Given the description of an element on the screen output the (x, y) to click on. 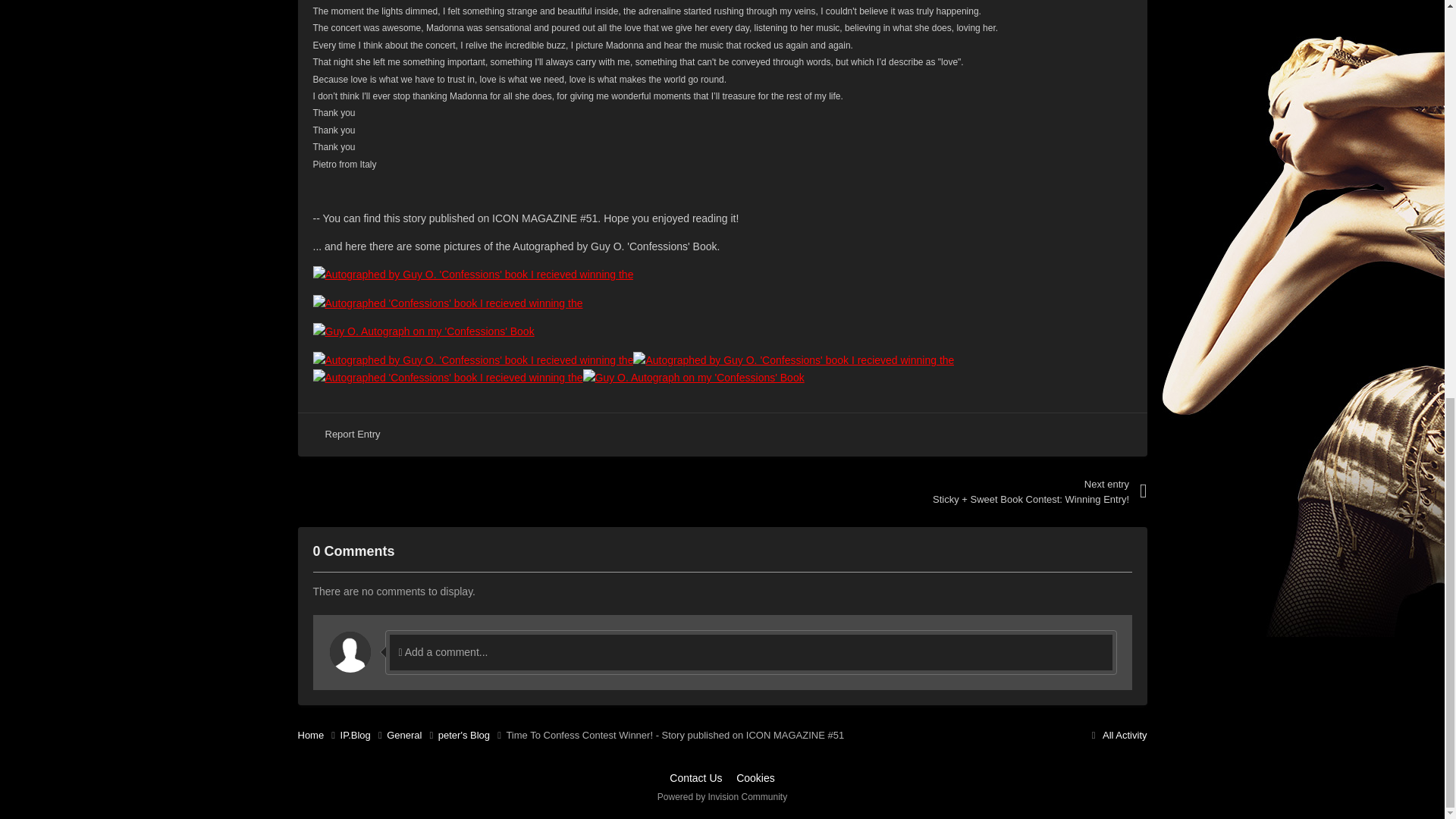
Autographed 'Confessions' book I recieved winning the (447, 303)
view Autographed 'Confessions' book I recieved winning the (447, 302)
Guy O. Autograph on my 'Confessions' Book (423, 330)
view Guy O. Autograph on my 'Confessions' Book (423, 330)
